Given the description of an element on the screen output the (x, y) to click on. 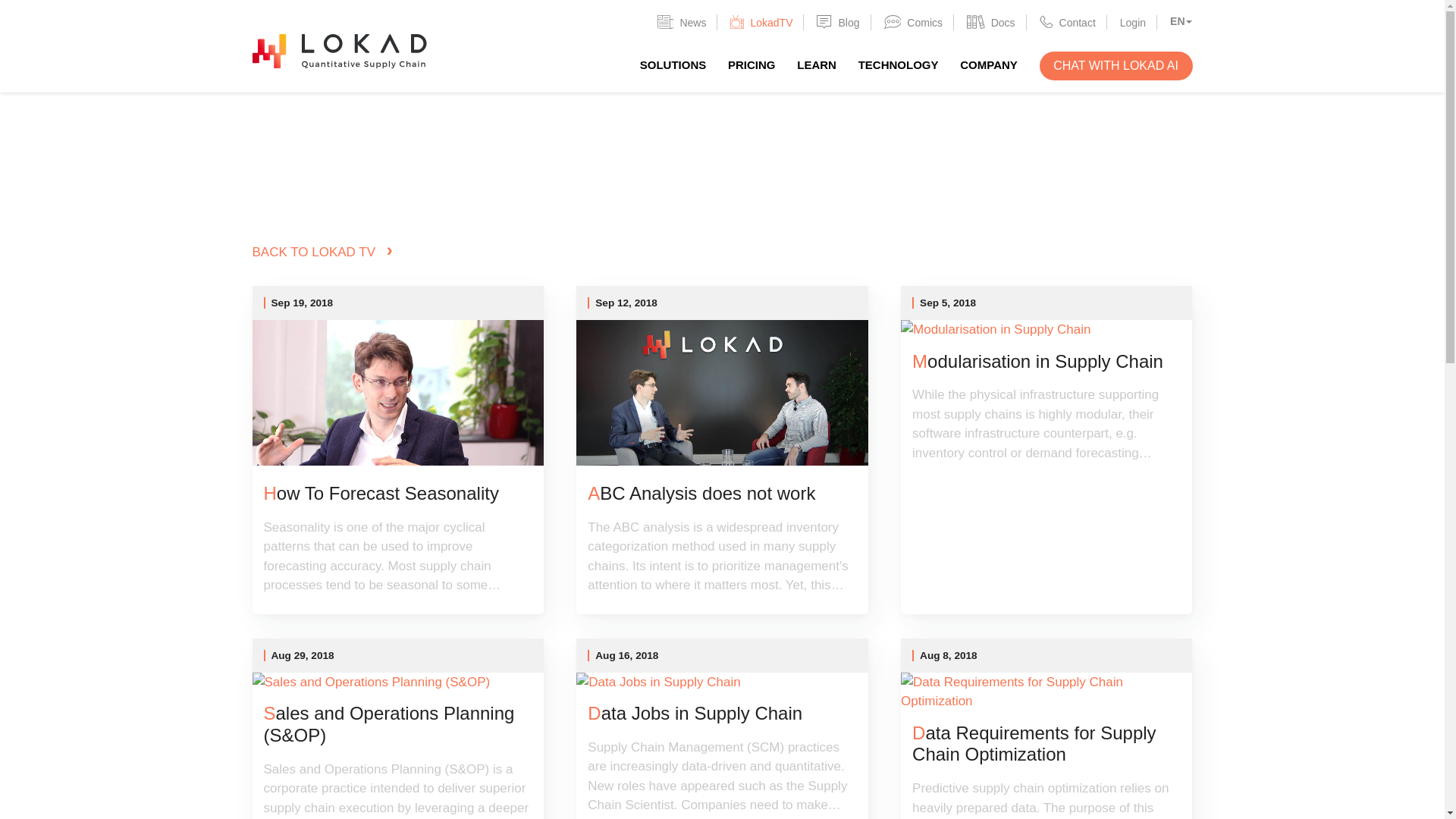
CHAT WITH LOKAD AI (1115, 65)
Docs (990, 21)
Modularisation in Supply Chain (1046, 362)
LokadTV (761, 21)
How To Forecast Seasonality (397, 494)
LEARN (815, 64)
Contact (1067, 21)
Blog (837, 21)
SOLUTIONS (673, 64)
Data Jobs in Supply Chain (722, 713)
ABC Analysis does not work (722, 494)
PRICING (752, 64)
Data Requirements for Supply Chain Optimization (1046, 744)
Comics (912, 21)
COMPANY (988, 64)
